Given the description of an element on the screen output the (x, y) to click on. 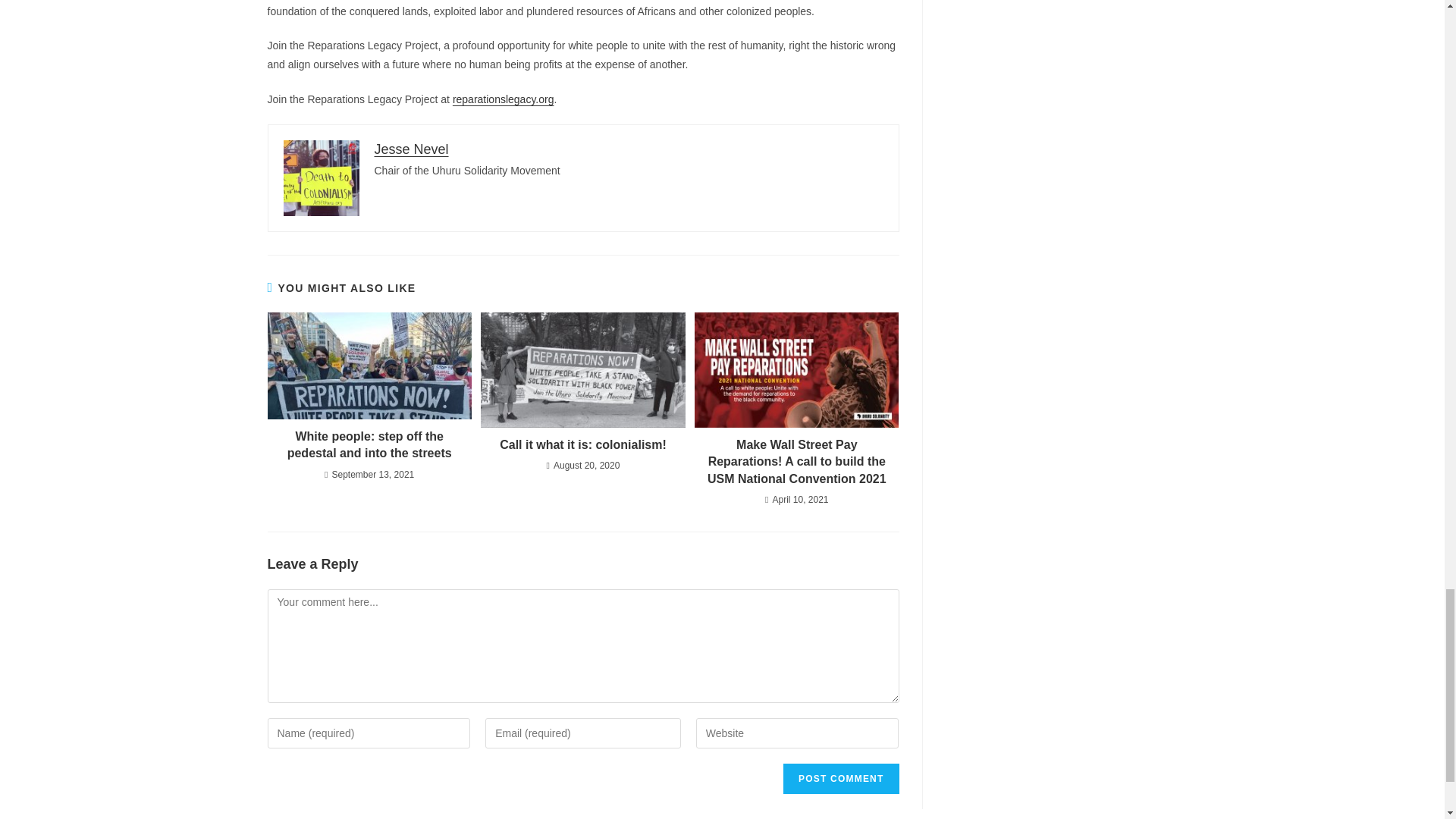
Post Comment (840, 778)
reparationslegacy.org (503, 99)
